Given the description of an element on the screen output the (x, y) to click on. 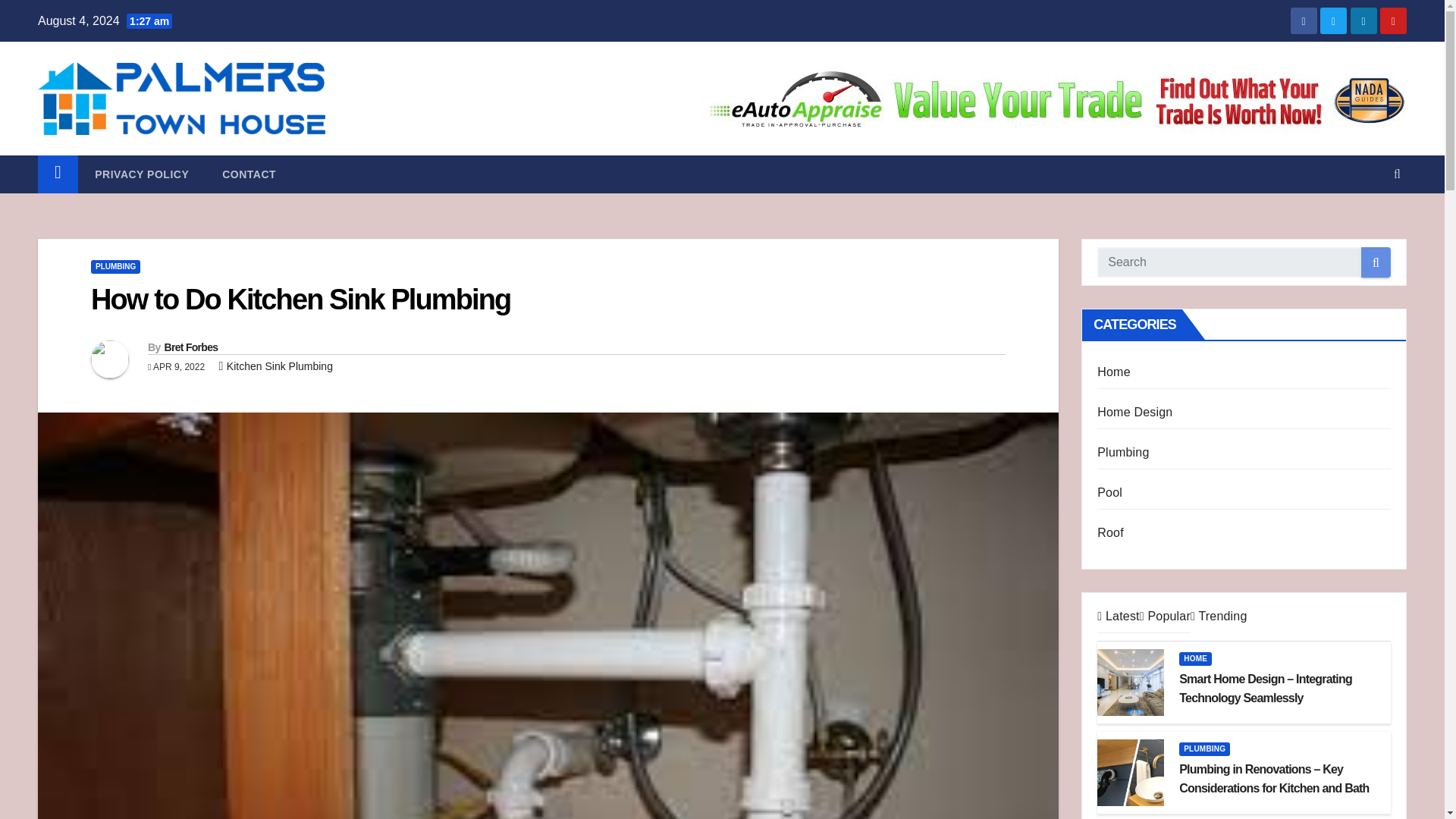
CONTACT (248, 174)
PLUMBING (114, 266)
Kitchen Sink Plumbing (280, 366)
PRIVACY POLICY (141, 174)
Bret Forbes (189, 346)
Permalink to: How to Do Kitchen Sink Plumbing (300, 299)
How to Do Kitchen Sink Plumbing (300, 299)
